Given the description of an element on the screen output the (x, y) to click on. 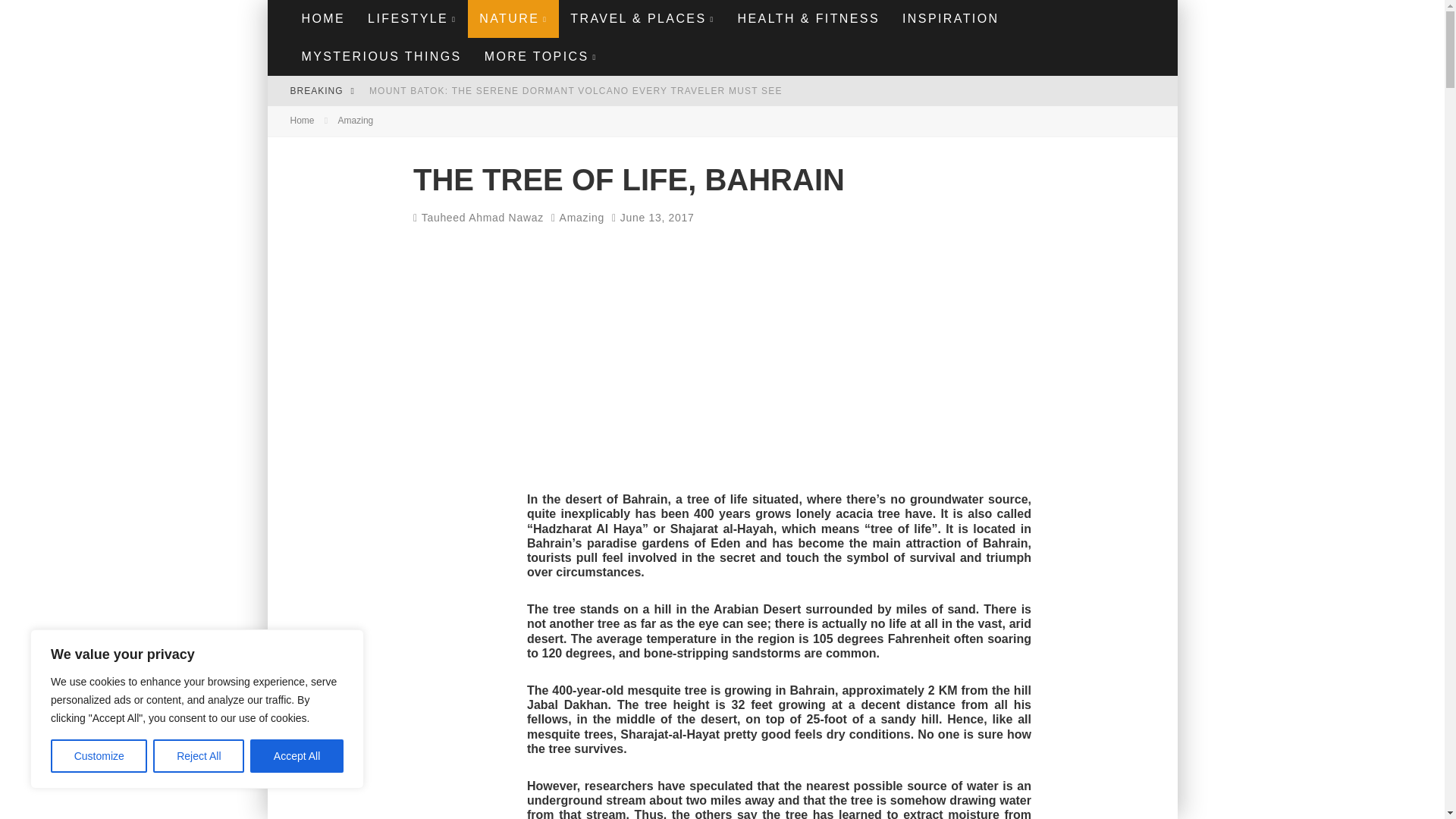
NATURE (513, 18)
Reject All (198, 756)
Accept All (296, 756)
HOME (322, 18)
LIFESTYLE (411, 18)
Customize (98, 756)
